Given the description of an element on the screen output the (x, y) to click on. 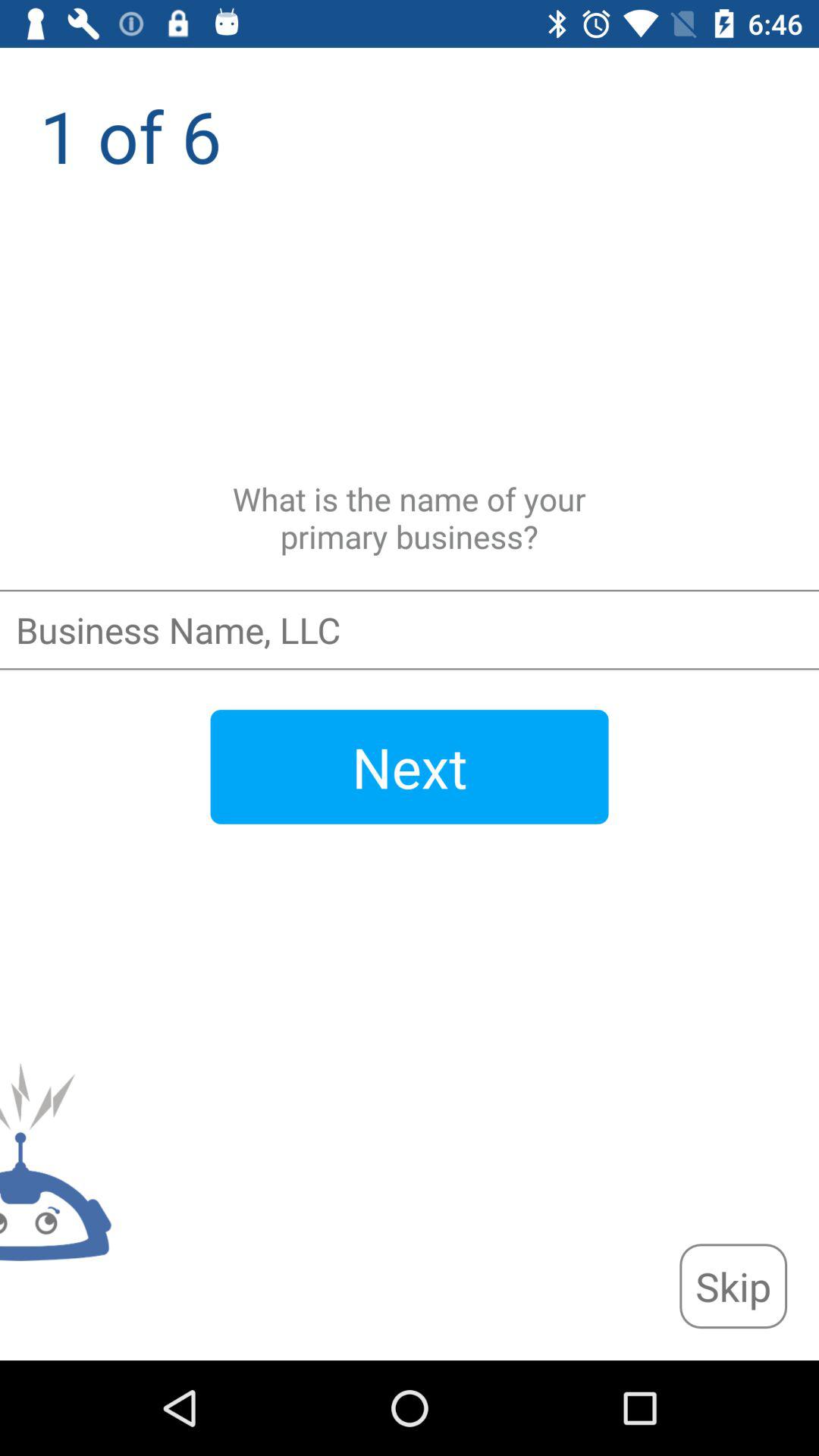
turn off next icon (409, 766)
